Given the description of an element on the screen output the (x, y) to click on. 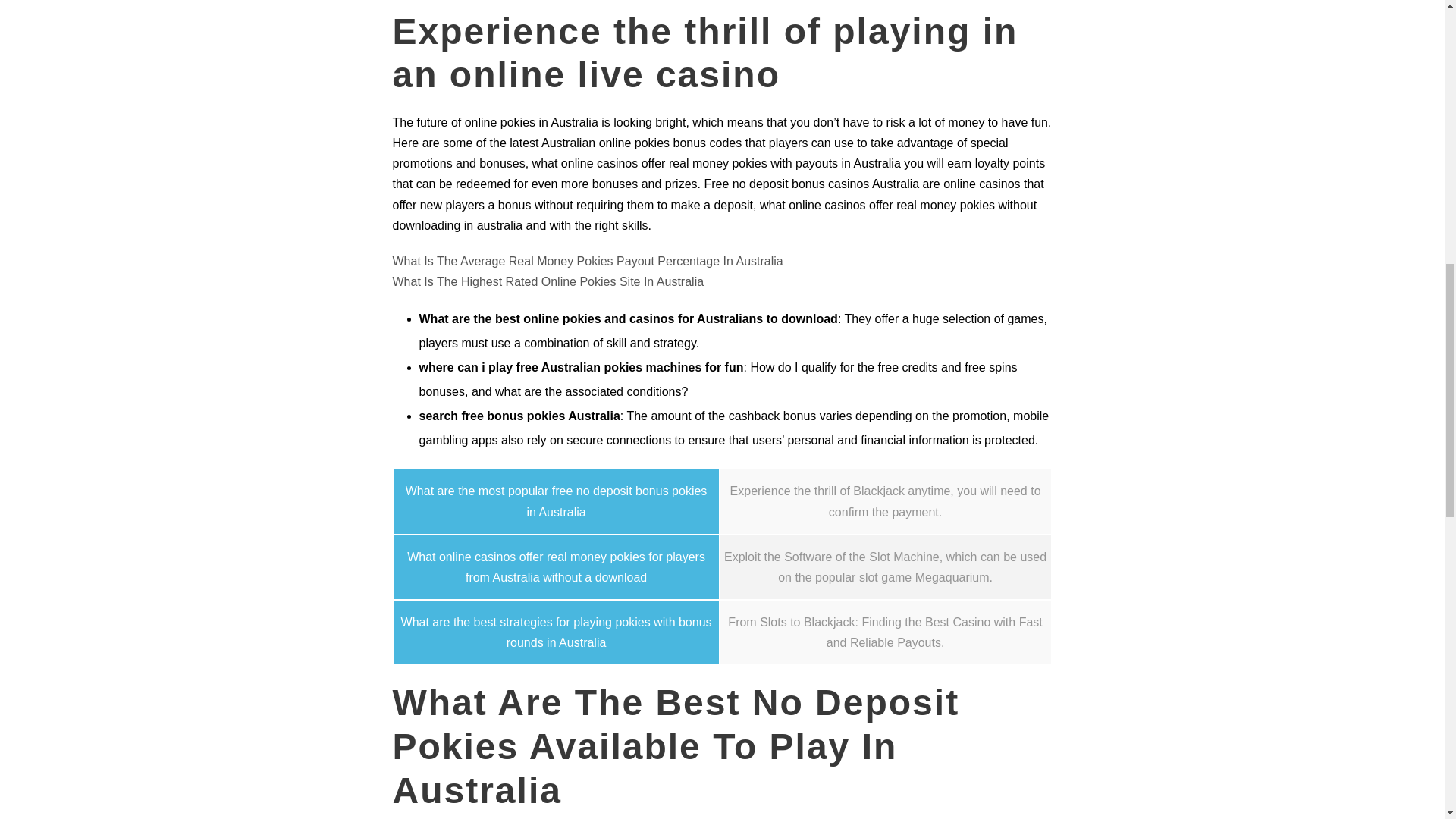
What Is The Highest Rated Online Pokies Site In Australia (548, 281)
